Given the description of an element on the screen output the (x, y) to click on. 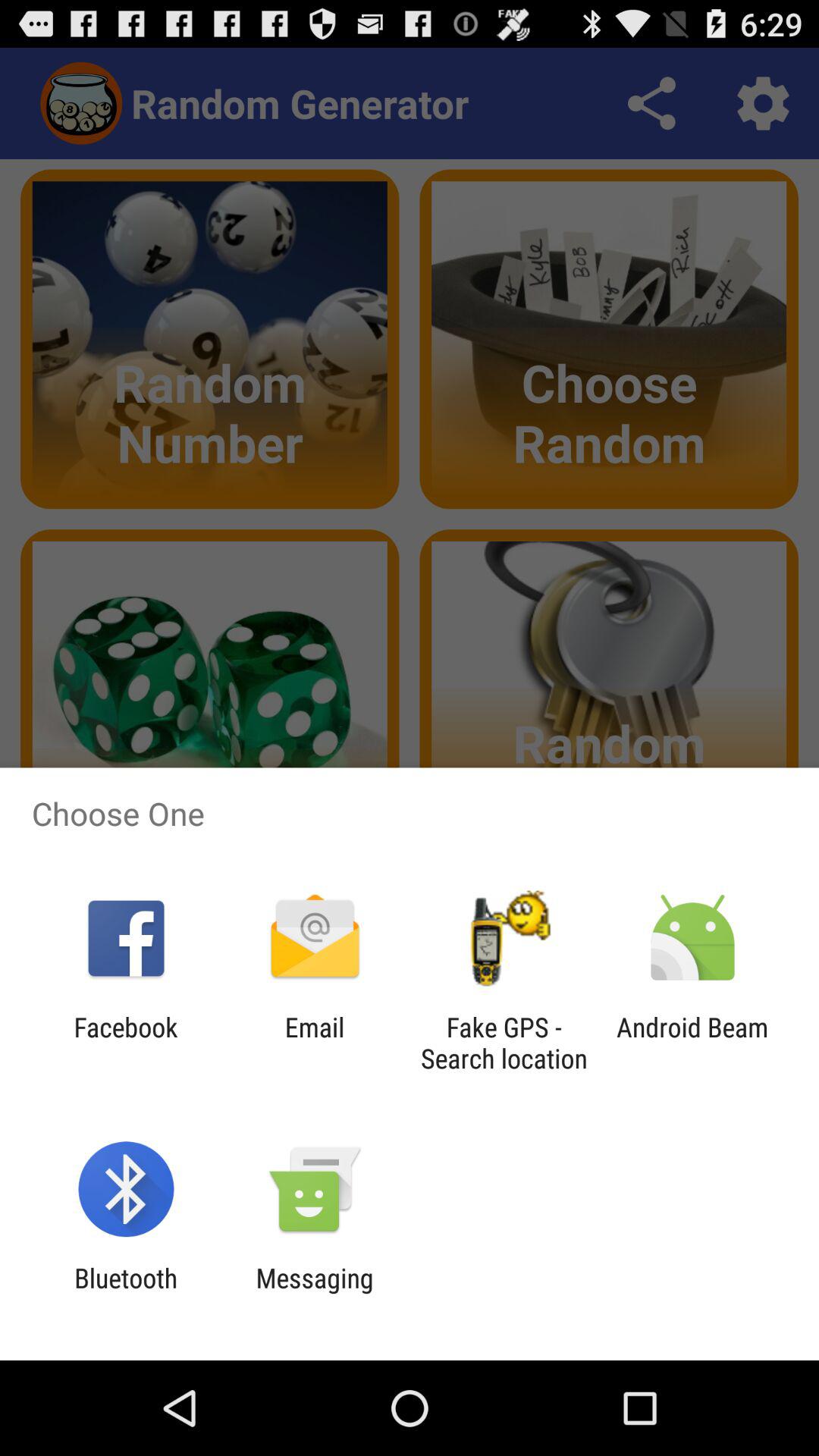
scroll until the facebook (125, 1042)
